Given the description of an element on the screen output the (x, y) to click on. 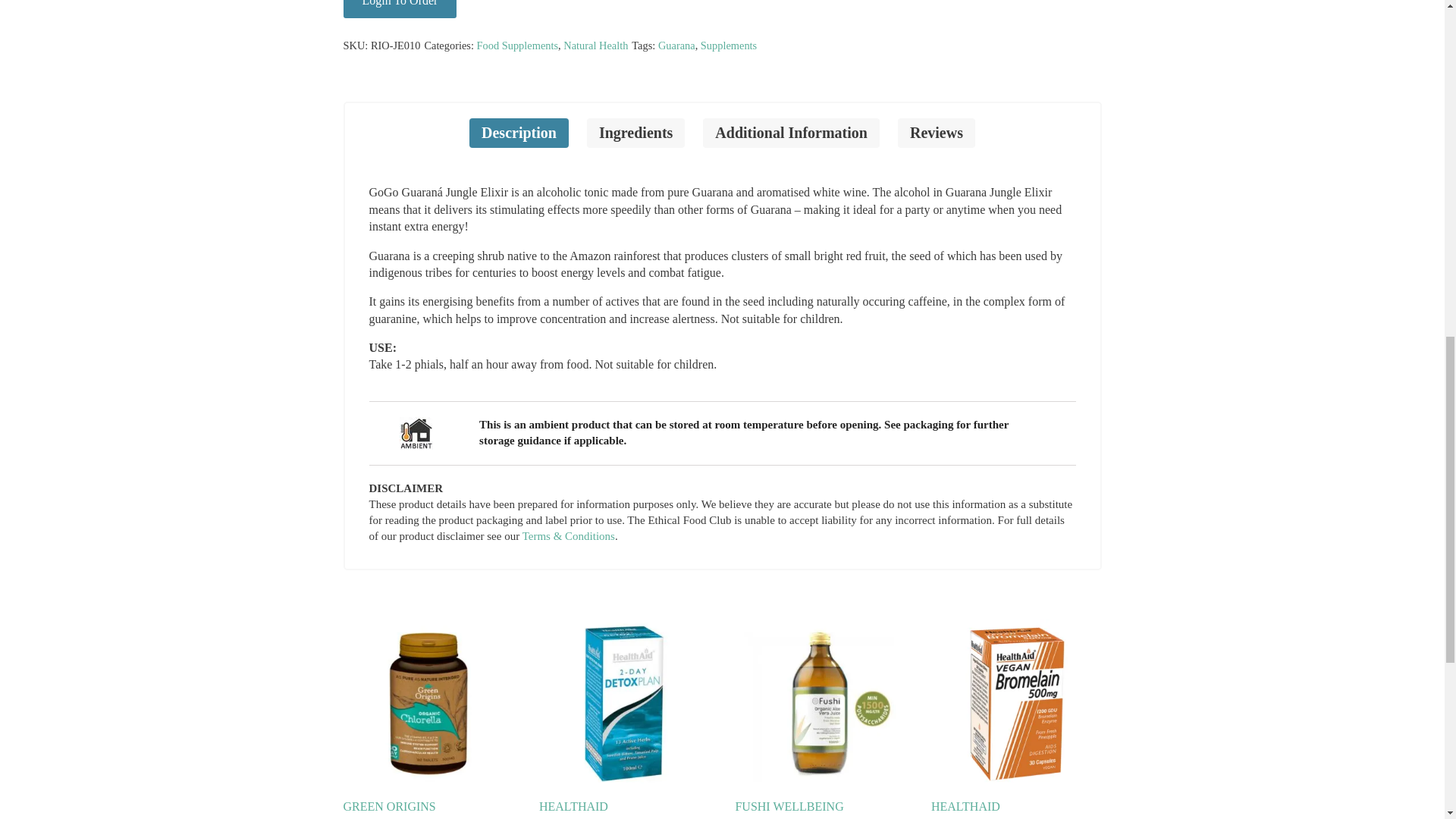
Reviews (936, 132)
Ingredients (635, 132)
Food Supplements (518, 45)
Supplements (728, 45)
Natural Health (595, 45)
Login To Order (399, 9)
Additional Information (791, 132)
Guarana (676, 45)
Description (518, 132)
